Given the description of an element on the screen output the (x, y) to click on. 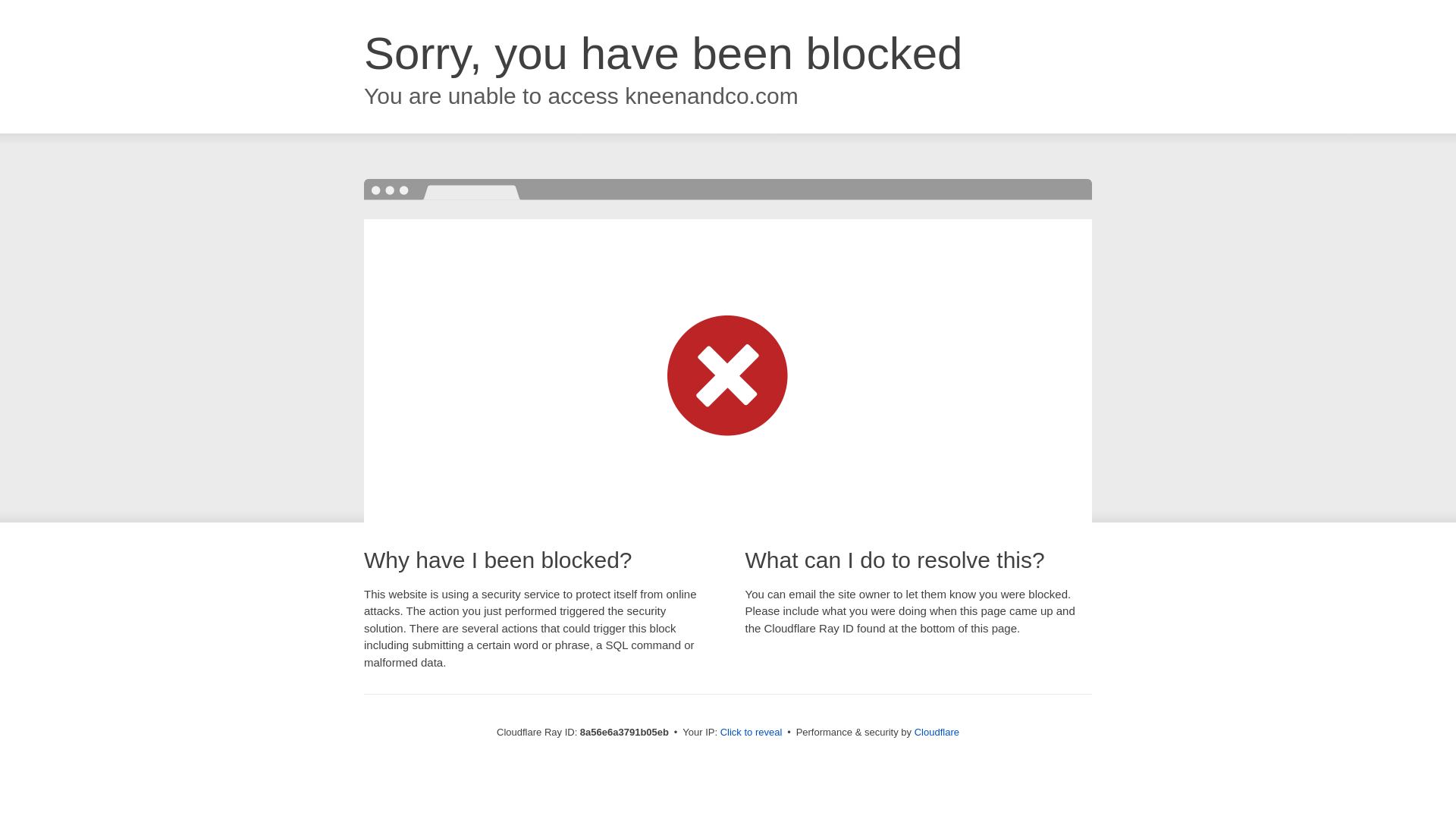
Click to reveal (751, 732)
Cloudflare (936, 731)
